Given the description of an element on the screen output the (x, y) to click on. 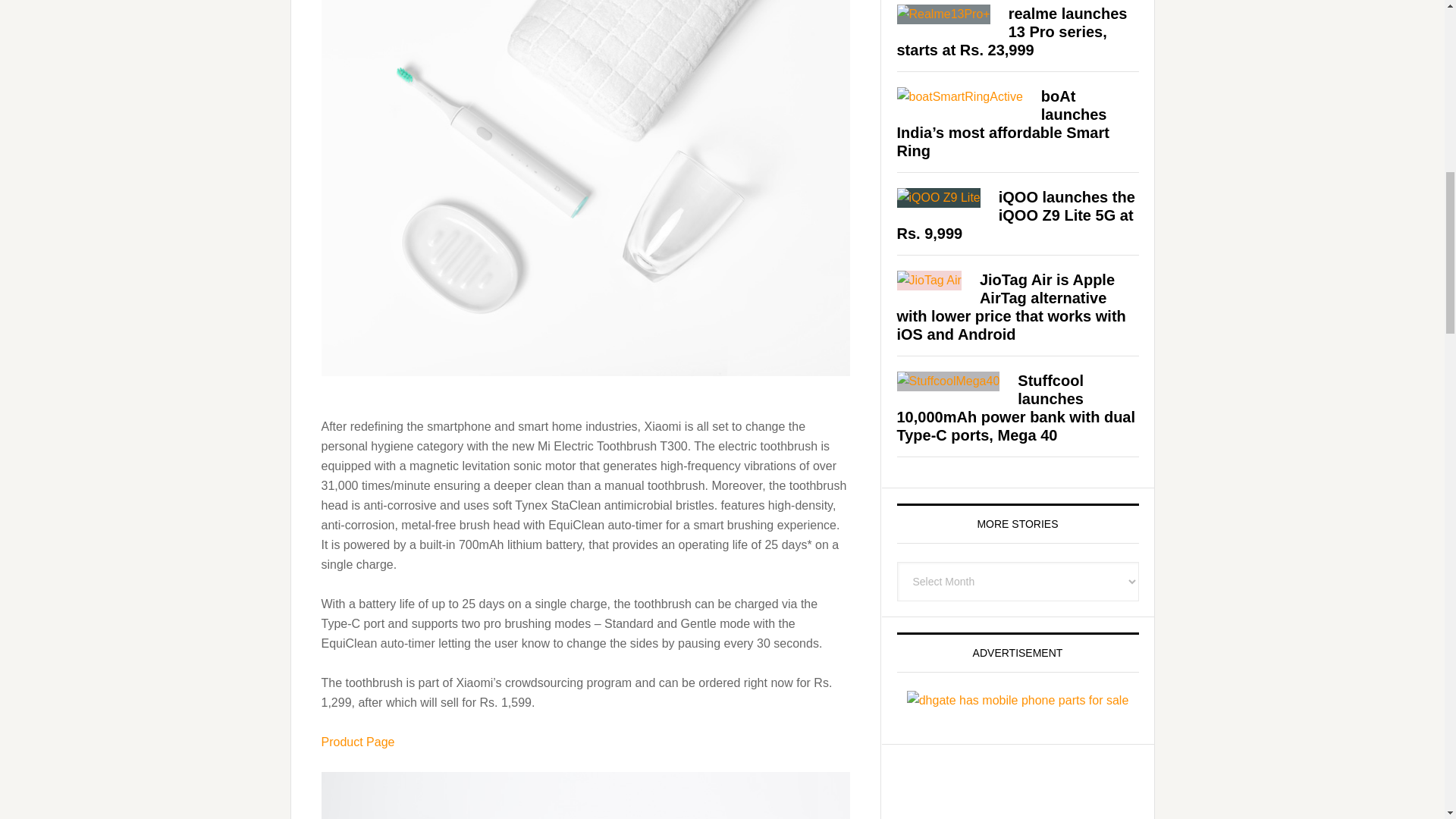
Product Page (357, 741)
